Given the description of an element on the screen output the (x, y) to click on. 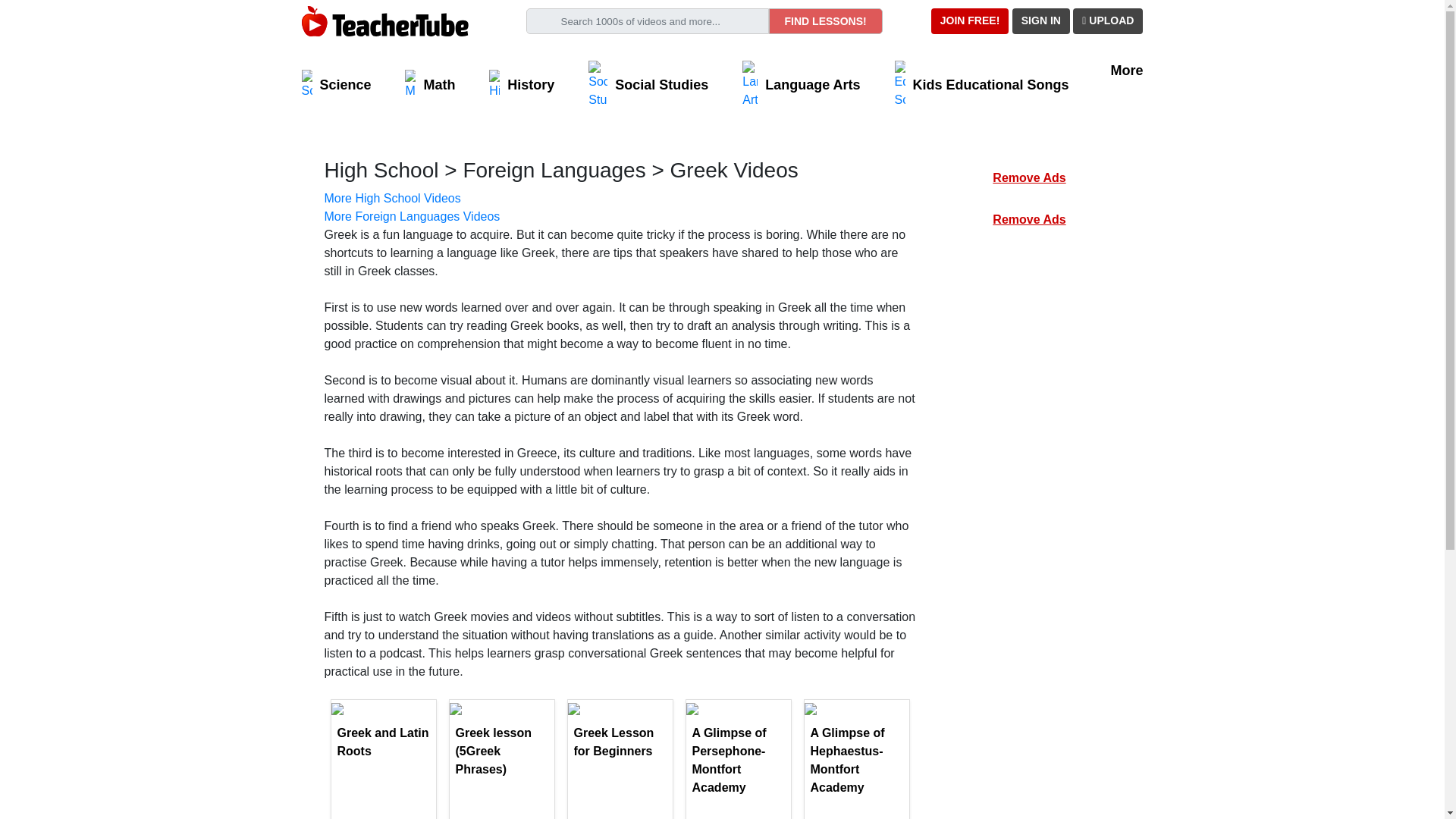
Math (429, 84)
Science (336, 84)
Social Studies (647, 84)
More Foreign Languages Videos (412, 215)
Language Arts (801, 84)
History (521, 84)
More High School Videos (392, 197)
